Given the description of an element on the screen output the (x, y) to click on. 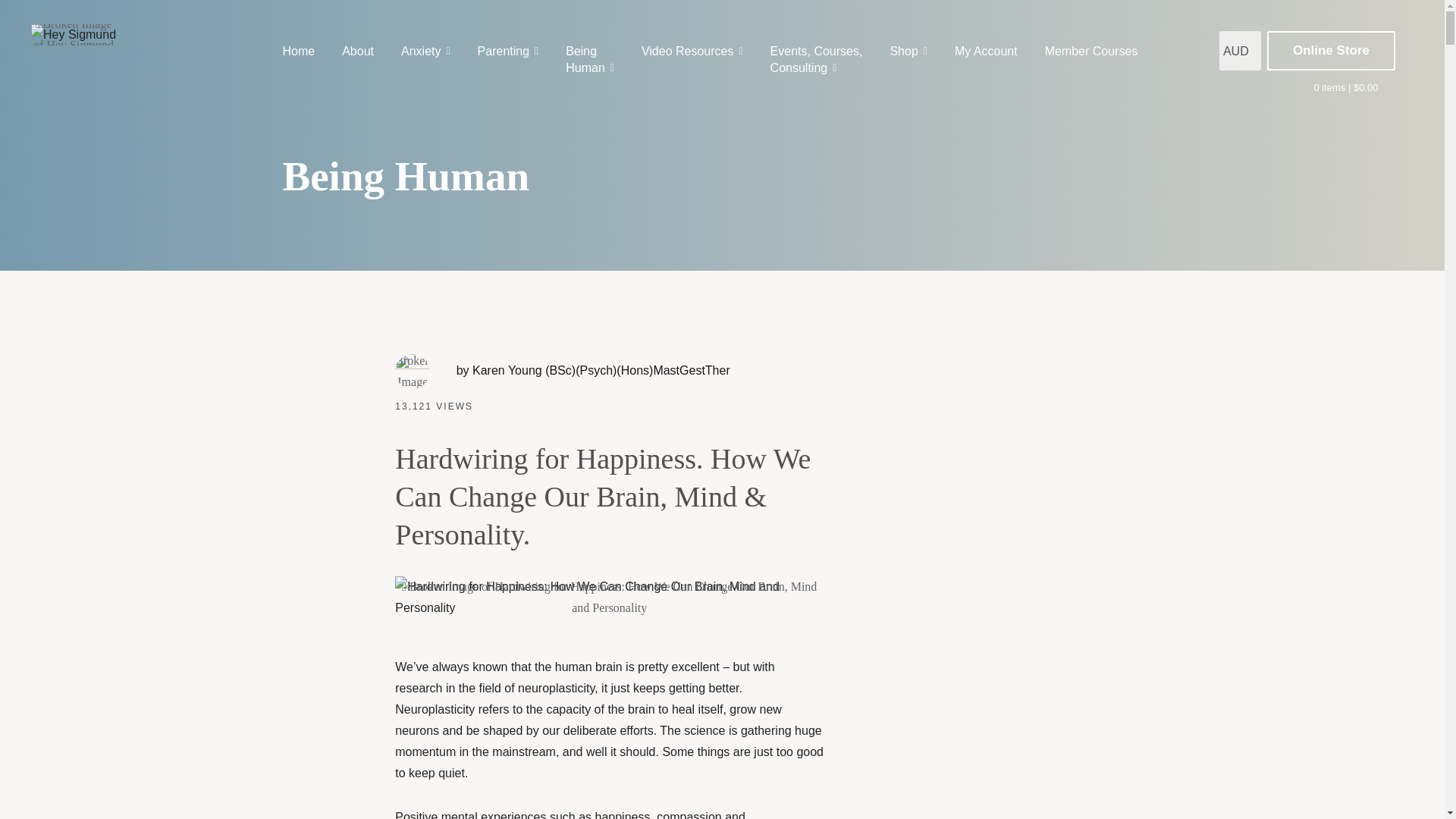
Parenting (508, 51)
Shop (908, 51)
Currency (816, 59)
Home (1240, 50)
My Account (305, 51)
Anxiety (589, 59)
View your shopping cart (985, 51)
About (425, 51)
Member Courses (1345, 87)
Video Resources (358, 51)
